Given the description of an element on the screen output the (x, y) to click on. 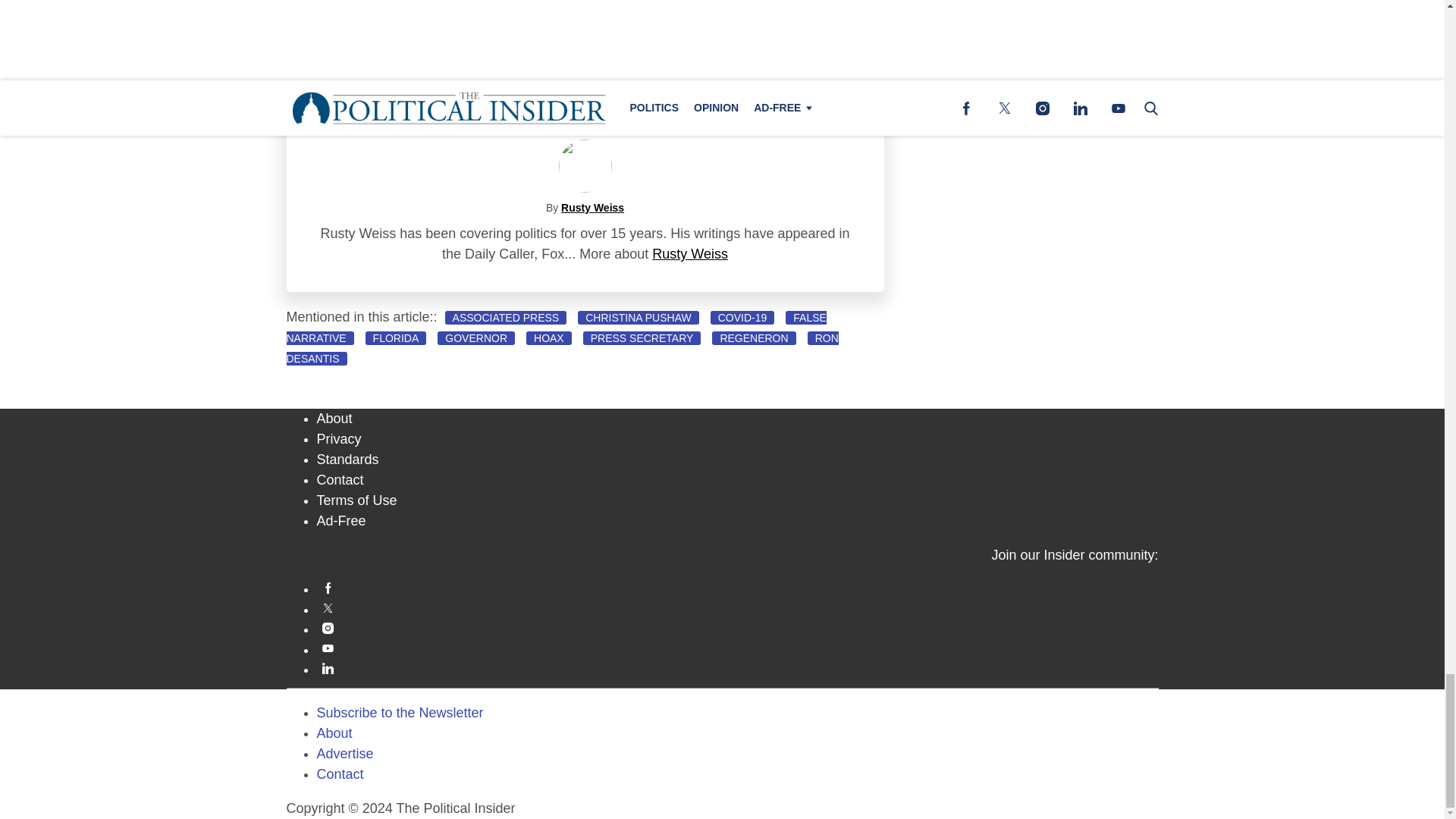
Follow us on Facebook (737, 587)
Connect with us on LinkedIn (737, 668)
Rusty Weiss (592, 207)
Follow us on Twitter (737, 608)
Subscribe to our YouTube channel (737, 648)
Follow us on Instagram (737, 627)
